Given the description of an element on the screen output the (x, y) to click on. 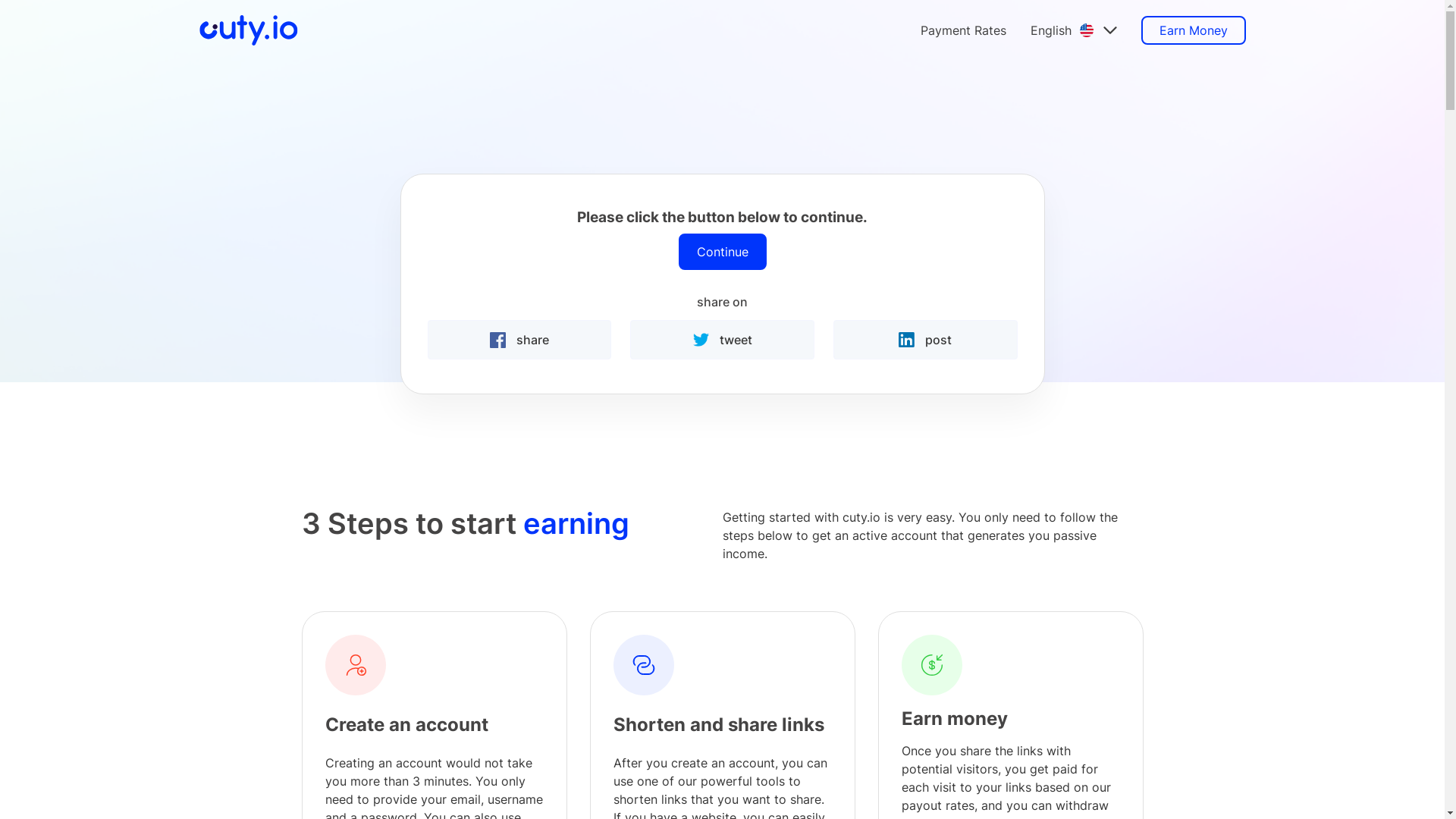
post Element type: text (925, 339)
tweet Element type: text (722, 339)
Earn Money Element type: text (1192, 29)
share Element type: text (519, 339)
Payment Rates Element type: text (963, 30)
Continue Element type: text (721, 251)
